Given the description of an element on the screen output the (x, y) to click on. 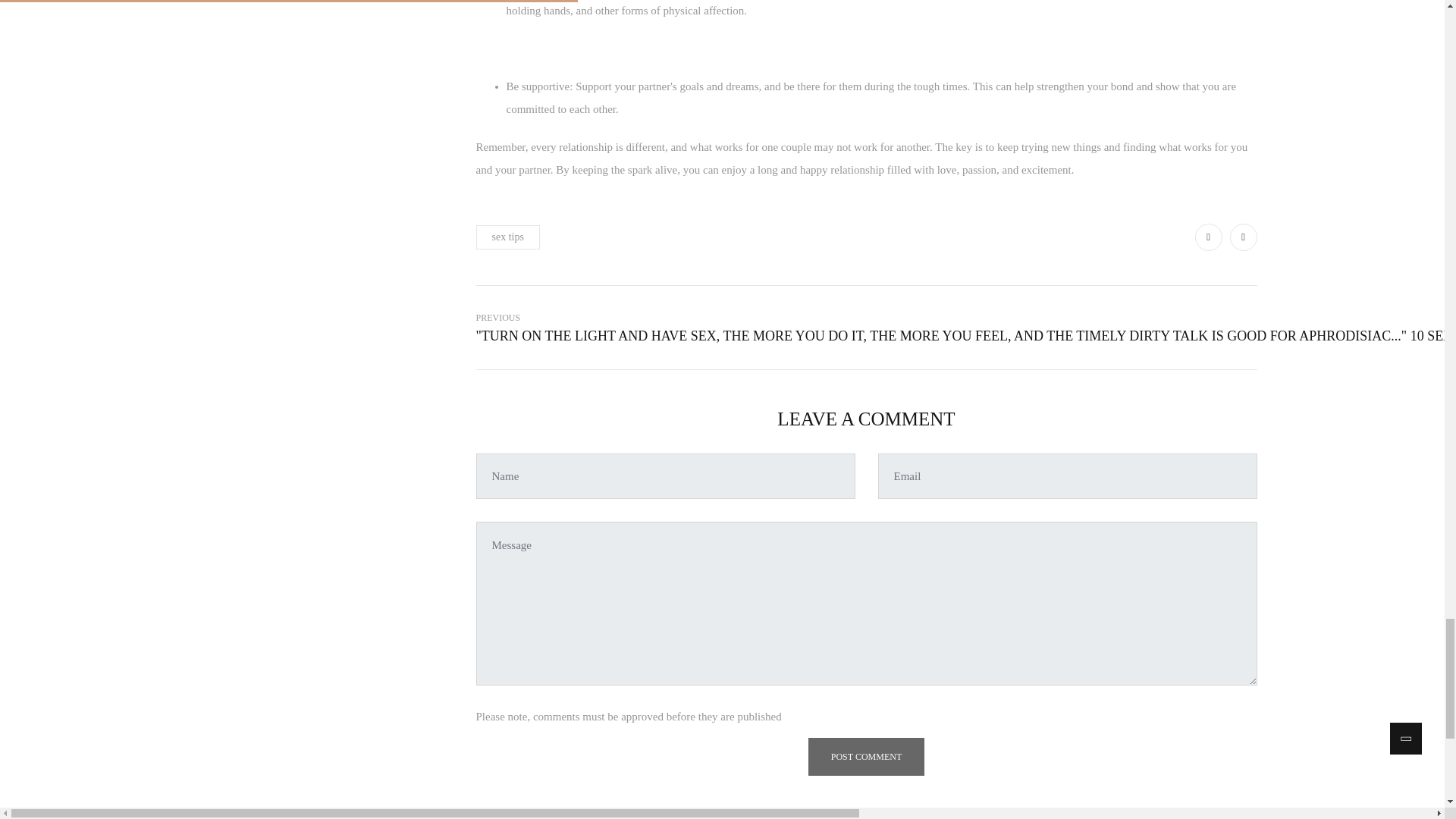
Post comment (866, 756)
